Given the description of an element on the screen output the (x, y) to click on. 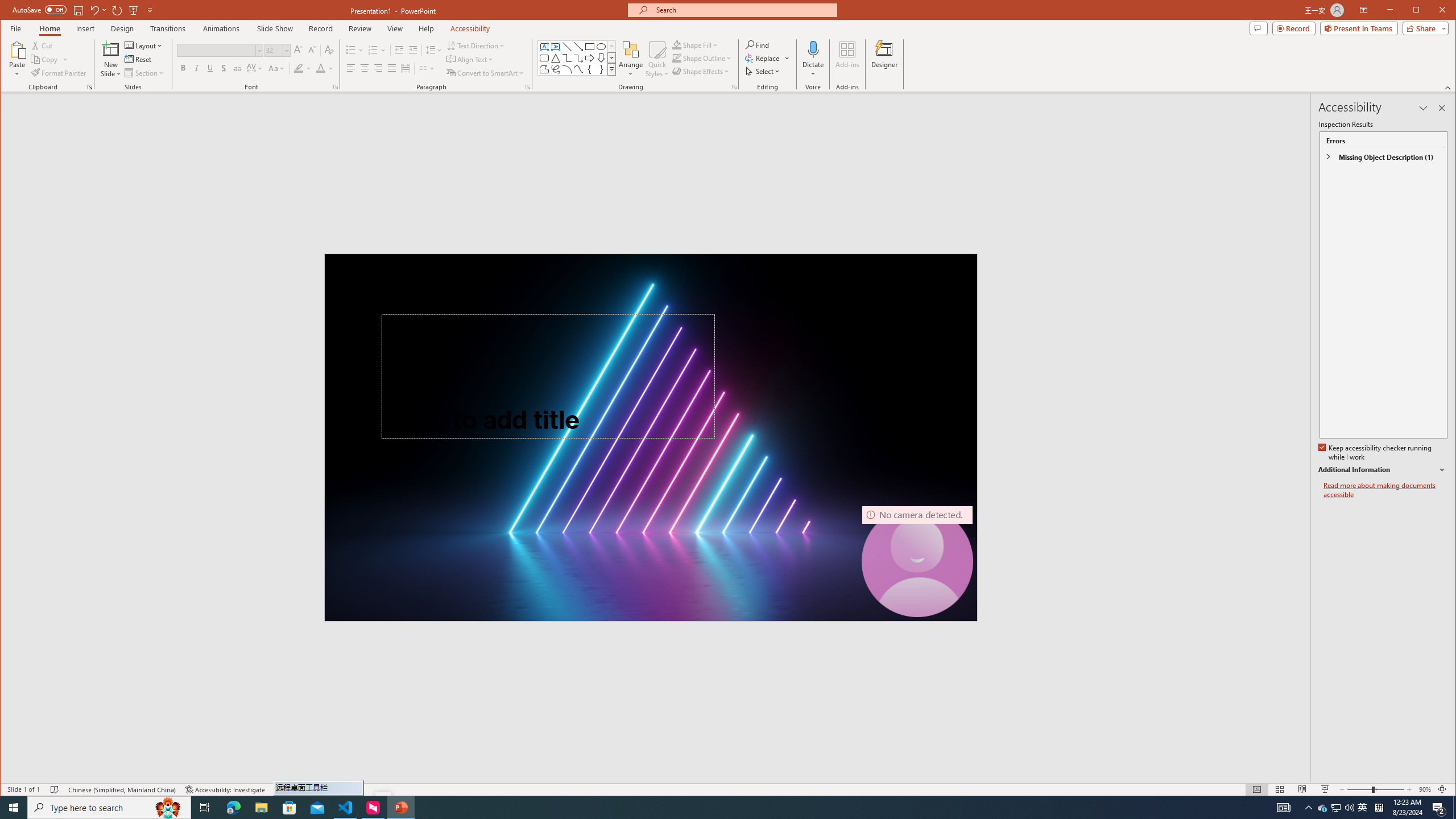
Read more about making documents accessible (1385, 489)
Camera 7, No camera detected. (917, 561)
Subtitle TextBox (515, 495)
